Given the description of an element on the screen output the (x, y) to click on. 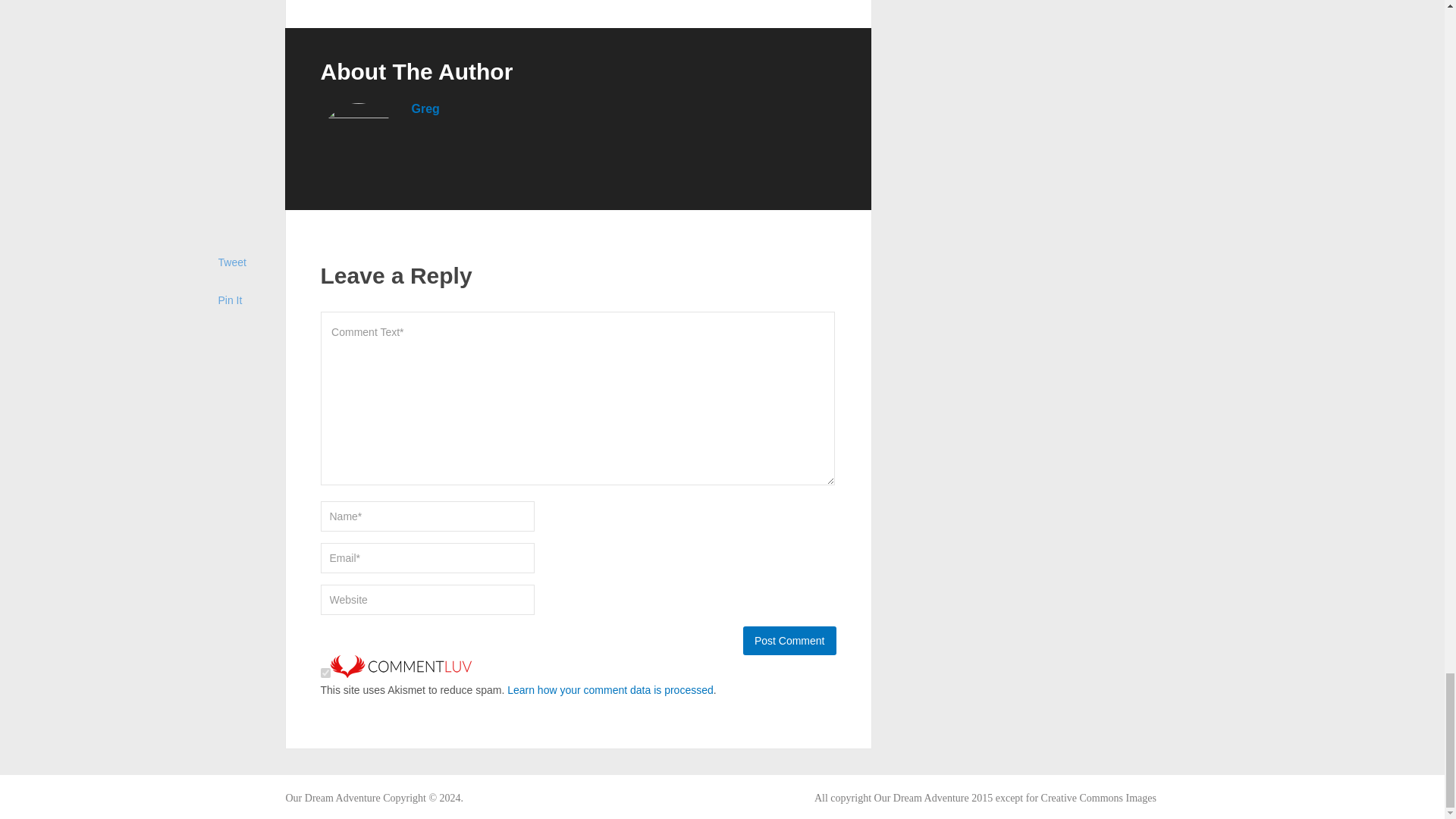
CommentLuv is enabled (400, 674)
Post Comment (788, 640)
on (325, 673)
